Given the description of an element on the screen output the (x, y) to click on. 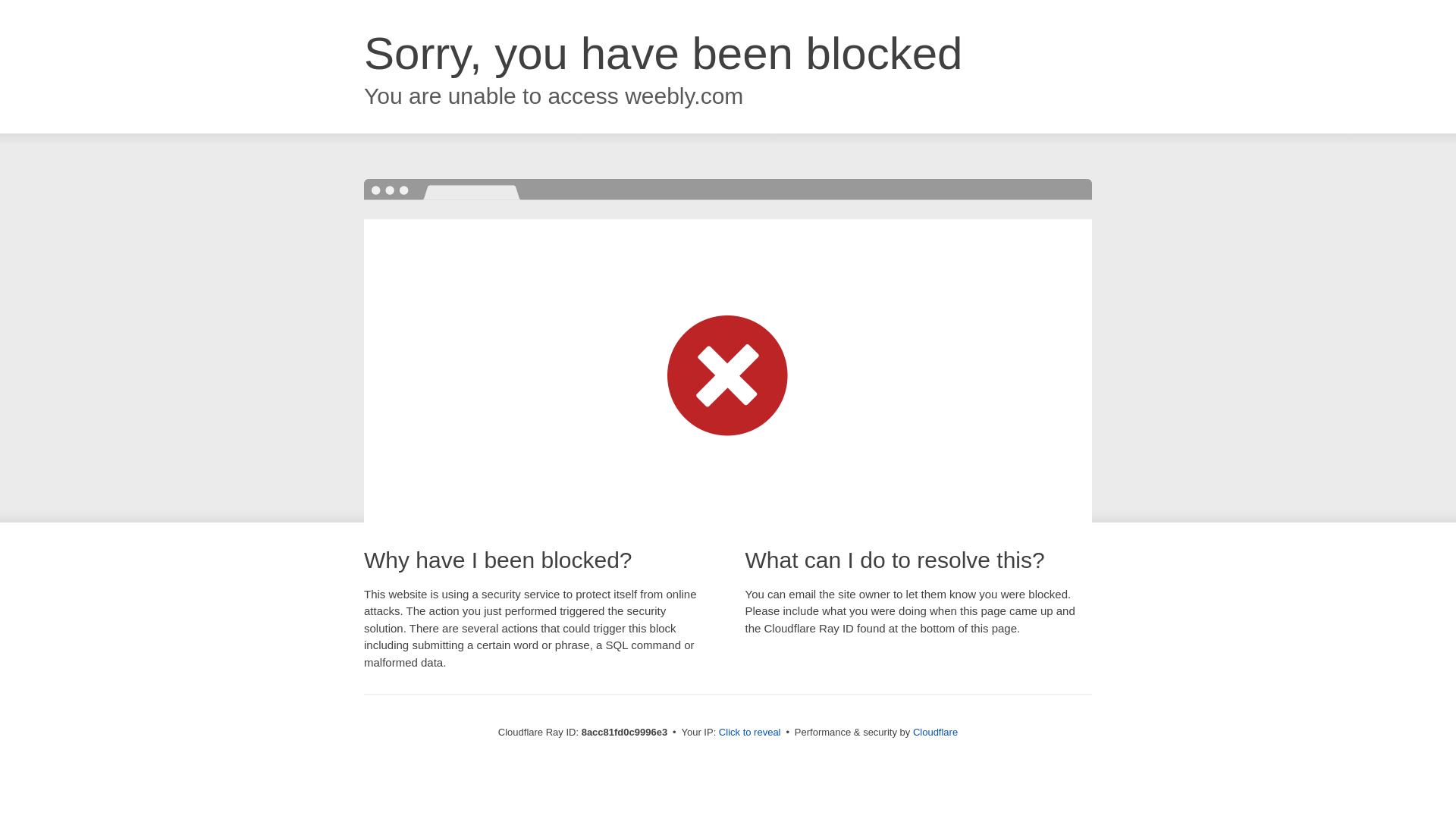
Click to reveal (749, 732)
Cloudflare (935, 731)
